Given the description of an element on the screen output the (x, y) to click on. 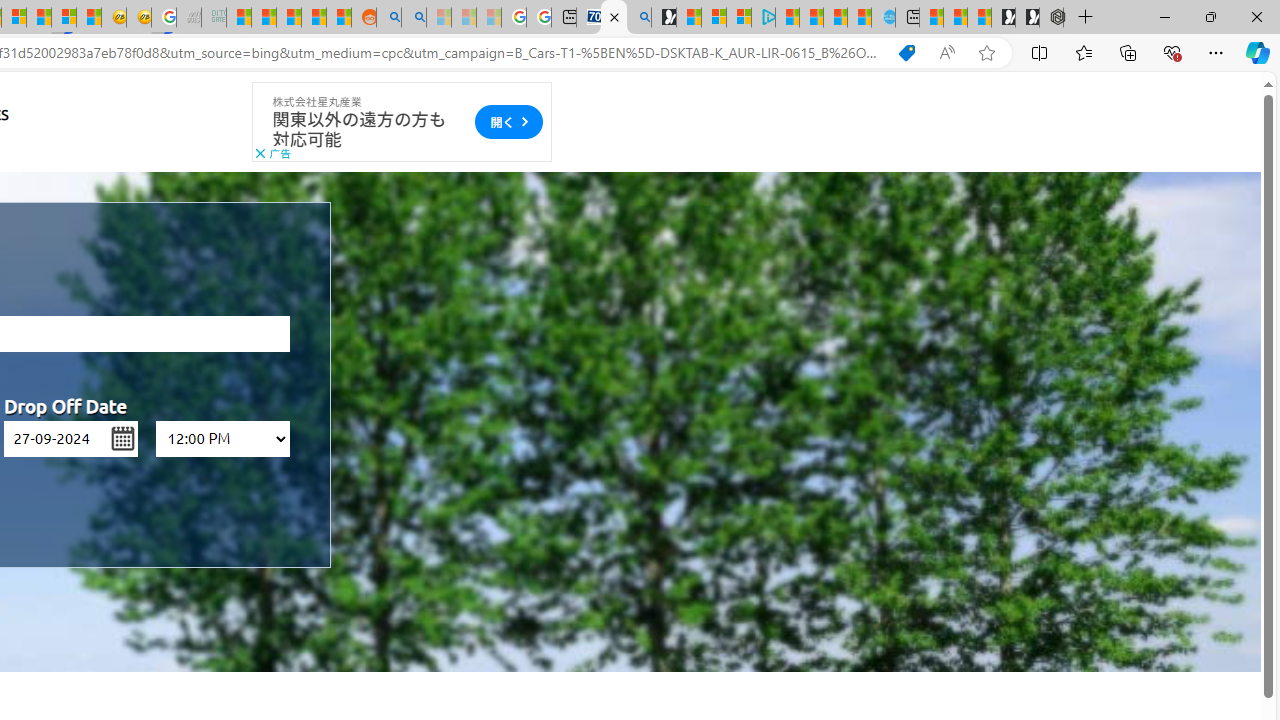
New Tab (1085, 17)
Close (1256, 16)
Microsoft Start - Sleeping (438, 17)
mm/dd/yy (71, 438)
Restore (1210, 16)
Student Loan Update: Forgiveness Program Ends This Month (314, 17)
Settings and more (Alt+F) (1215, 52)
Close tab (614, 16)
Shopping in Microsoft Edge (906, 53)
